Given the description of an element on the screen output the (x, y) to click on. 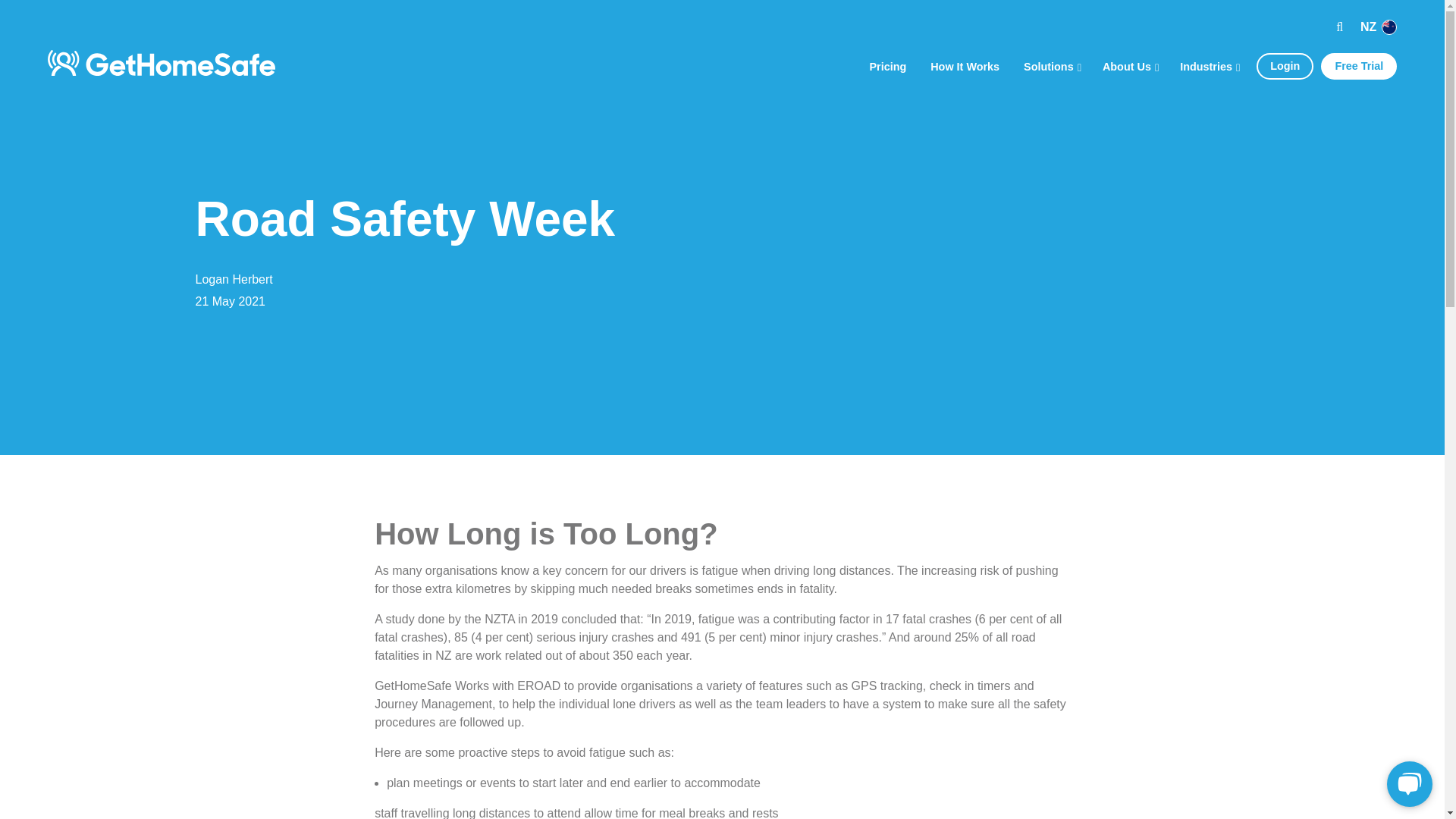
Solutions (1050, 64)
Login (1281, 66)
How It Works (964, 64)
About Us (1128, 64)
Free Trial (1354, 66)
Pricing (887, 64)
Industries (1208, 64)
